Given the description of an element on the screen output the (x, y) to click on. 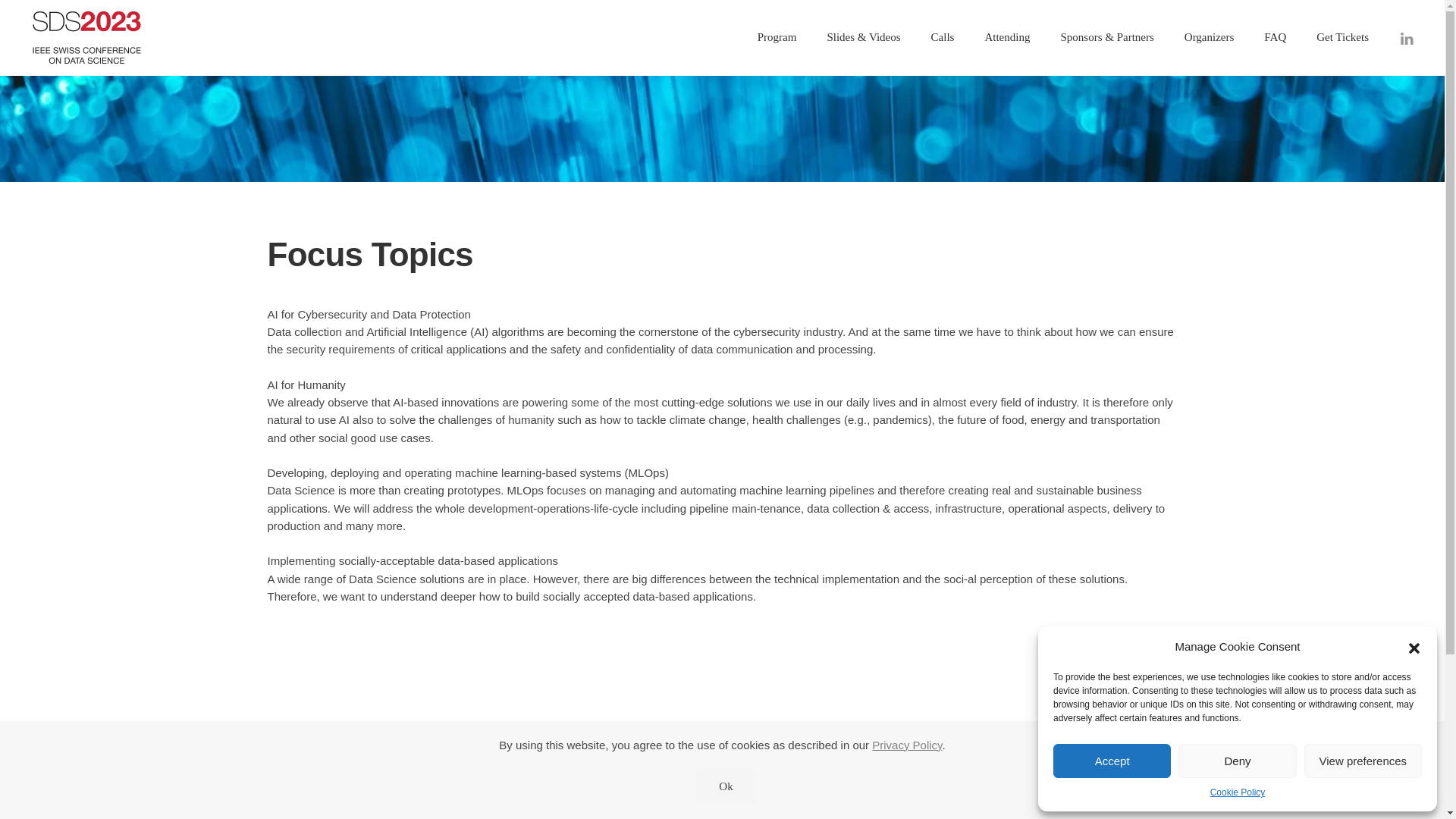
View preferences (1363, 760)
Deny (1236, 760)
Cookie Policy (1237, 792)
Accept (1111, 760)
